Given the description of an element on the screen output the (x, y) to click on. 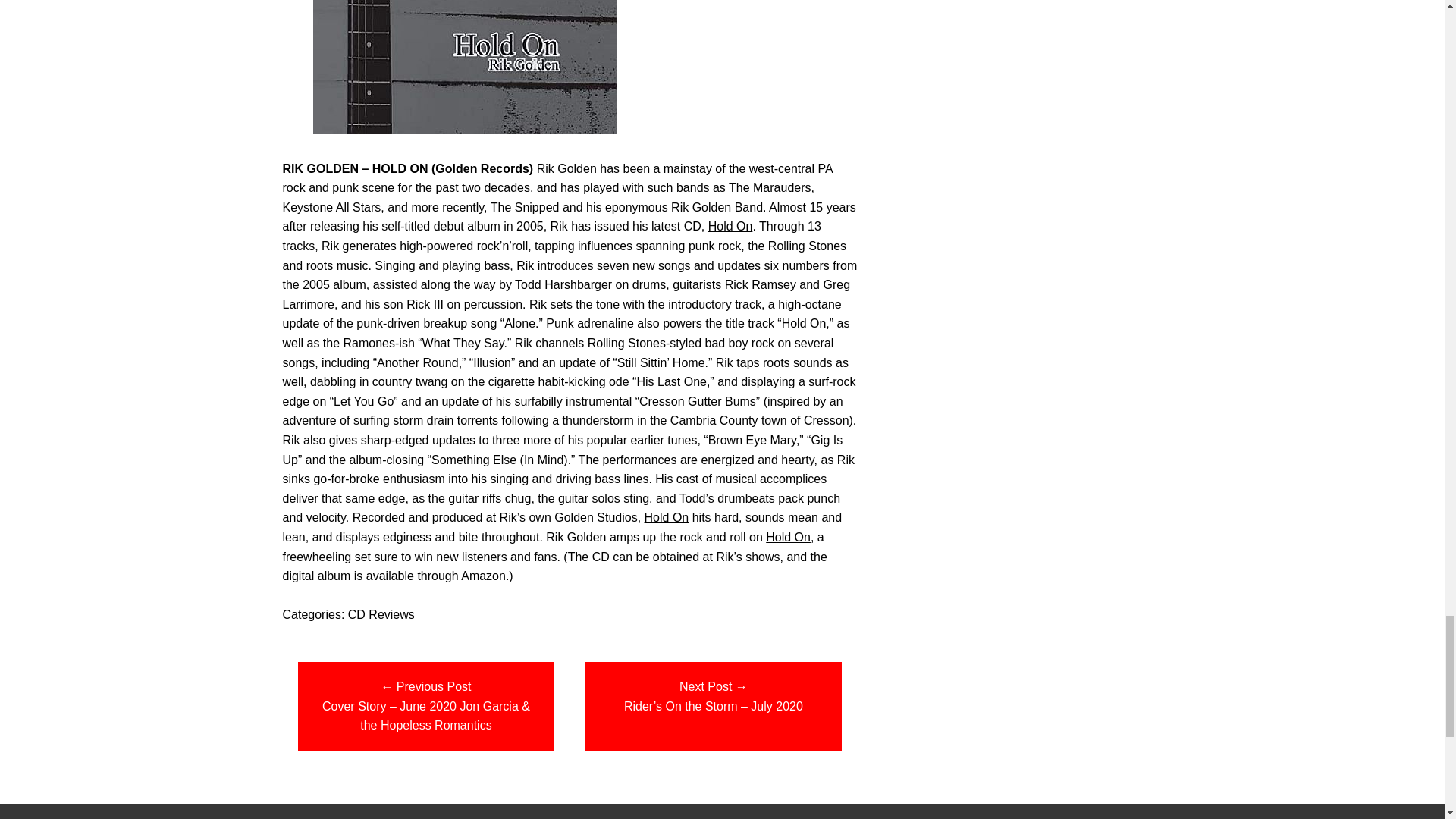
CD Reviews (380, 614)
